Given the description of an element on the screen output the (x, y) to click on. 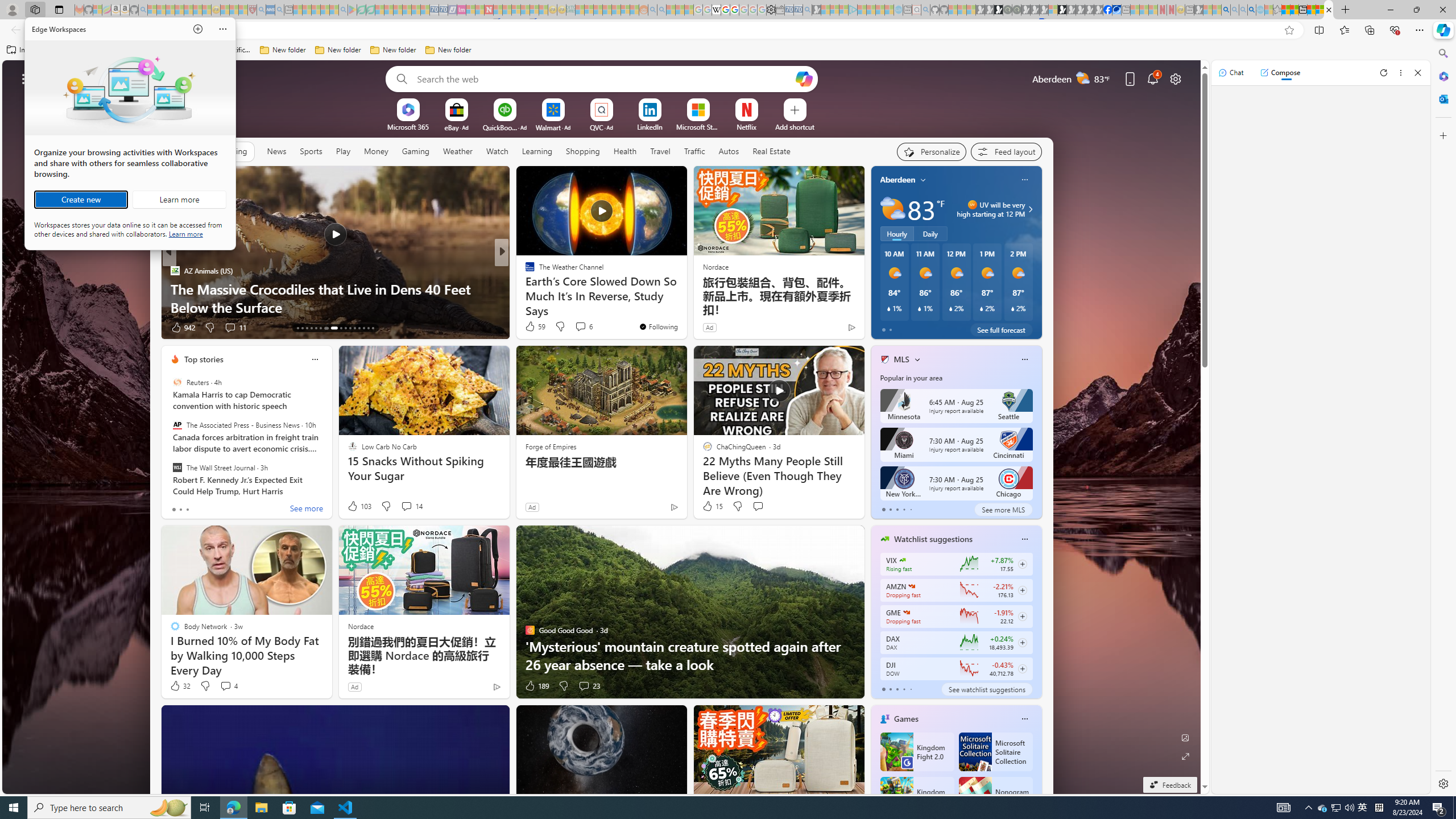
Q2790: 100% (1349, 807)
New folder (448, 49)
AutomationID: 4105 (1283, 807)
utah sues federal government - Search - Sleeping (279, 9)
409 Like (532, 327)
Microsoft Start Gaming - Sleeping (815, 9)
Future Focus Report 2024 - Sleeping (1016, 9)
Class: sd-card-game-item-img-inner (974, 796)
Terms of Use Agreement - Sleeping (361, 9)
Money (376, 151)
View comments 2 Comment (580, 327)
Netflix (746, 126)
